Given the description of an element on the screen output the (x, y) to click on. 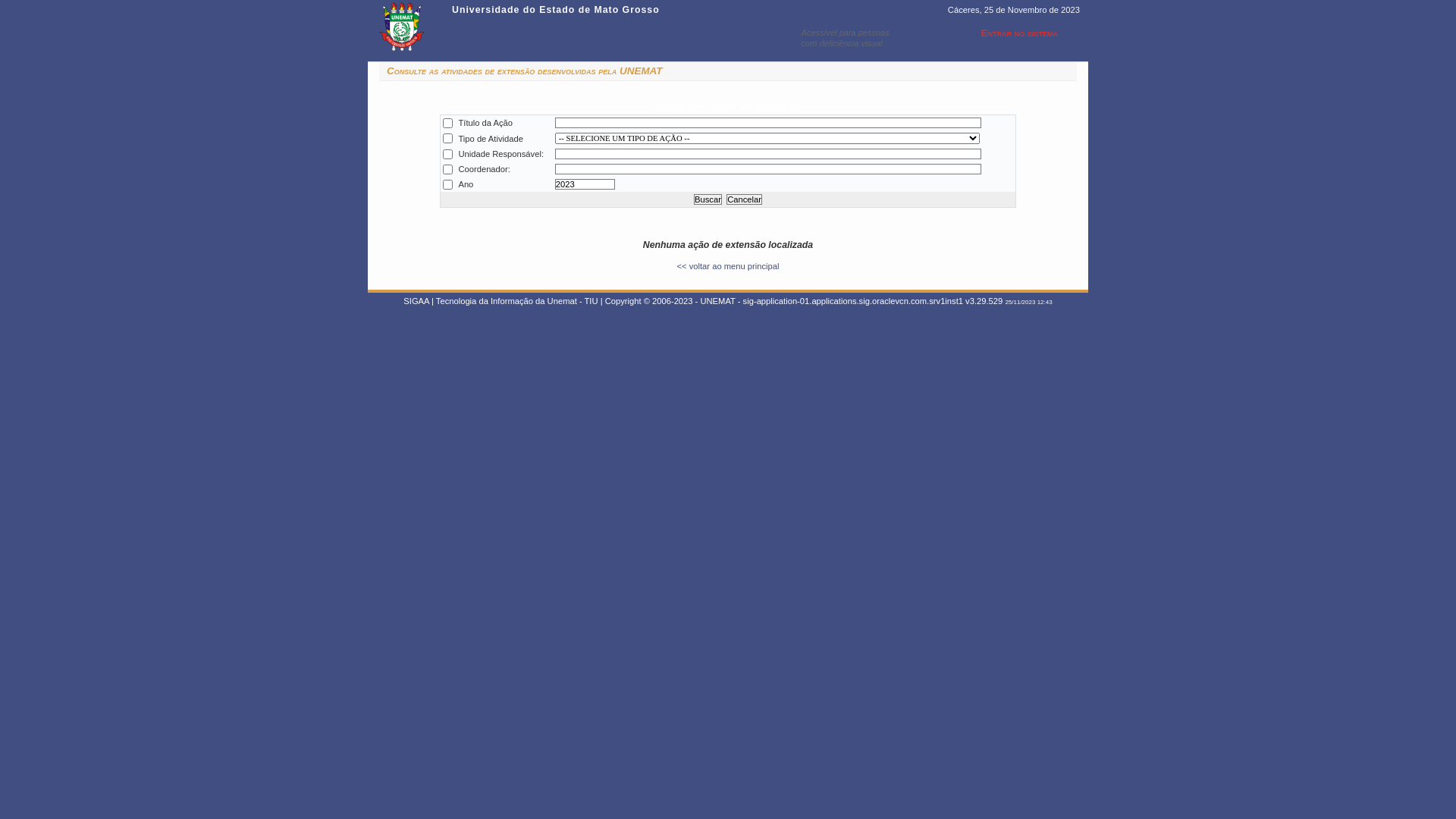
Buscar Element type: text (707, 199)
Cancelar Element type: text (744, 199)
Entrar no sistema Element type: text (1007, 35)
v3.29.529 Element type: text (983, 300)
<< voltar ao menu principal Element type: text (728, 265)
